Given the description of an element on the screen output the (x, y) to click on. 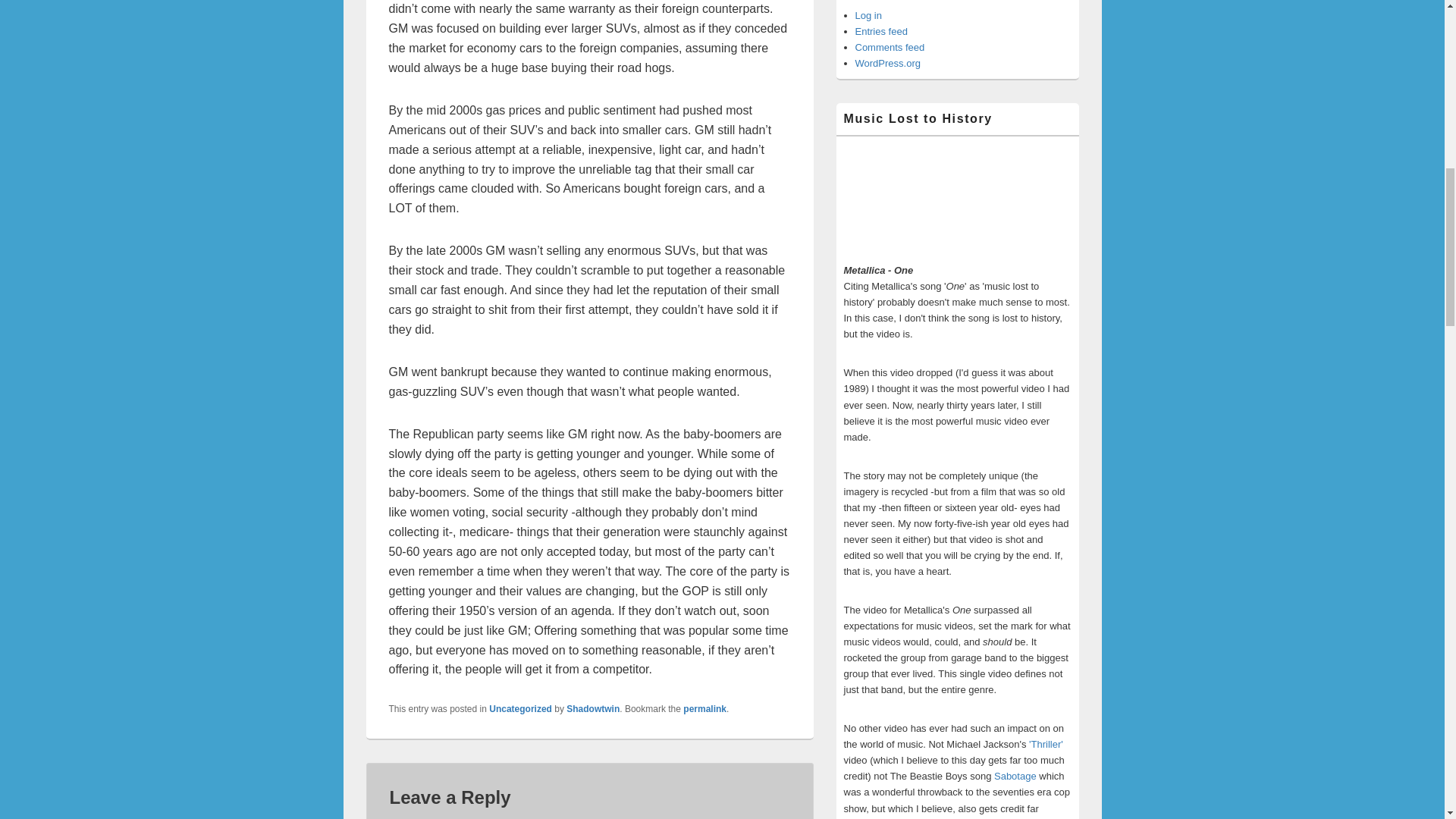
Shadowtwin (593, 708)
Permalink to Health Care in the news (704, 708)
Entries feed (881, 30)
Comments feed (890, 47)
Log in (869, 15)
Sabotage (1015, 776)
permalink (704, 708)
Uncategorized (520, 708)
WordPress.org (888, 62)
'Thriller' (1045, 744)
